Given the description of an element on the screen output the (x, y) to click on. 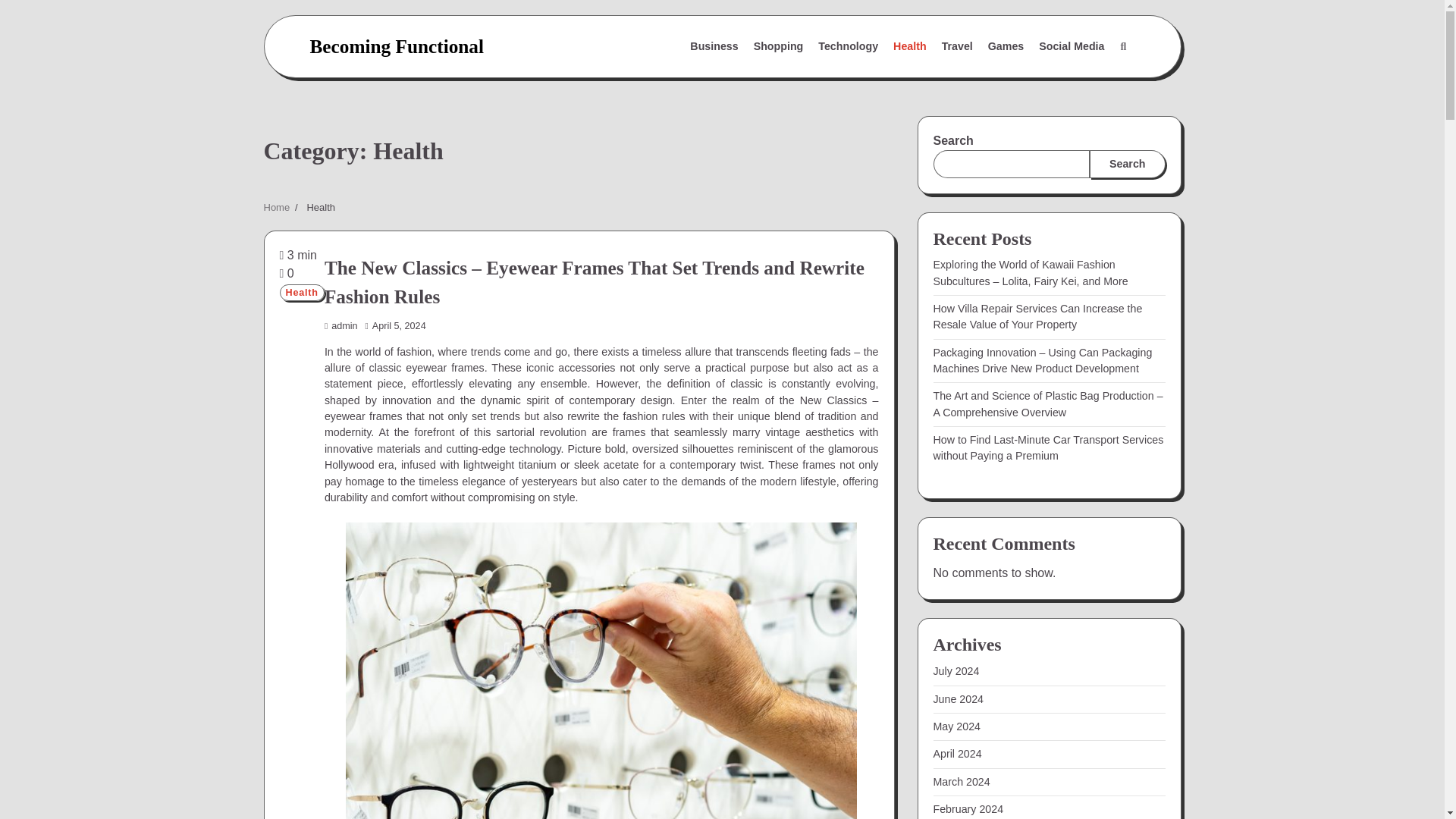
Technology (847, 46)
Travel (956, 46)
Business (713, 46)
Search (1086, 83)
Becoming Functional (395, 46)
Games (1004, 46)
Shopping (777, 46)
Search (1123, 47)
Home (276, 206)
Social Media (1071, 46)
Health (909, 46)
Health (301, 292)
admin (341, 326)
